Given the description of an element on the screen output the (x, y) to click on. 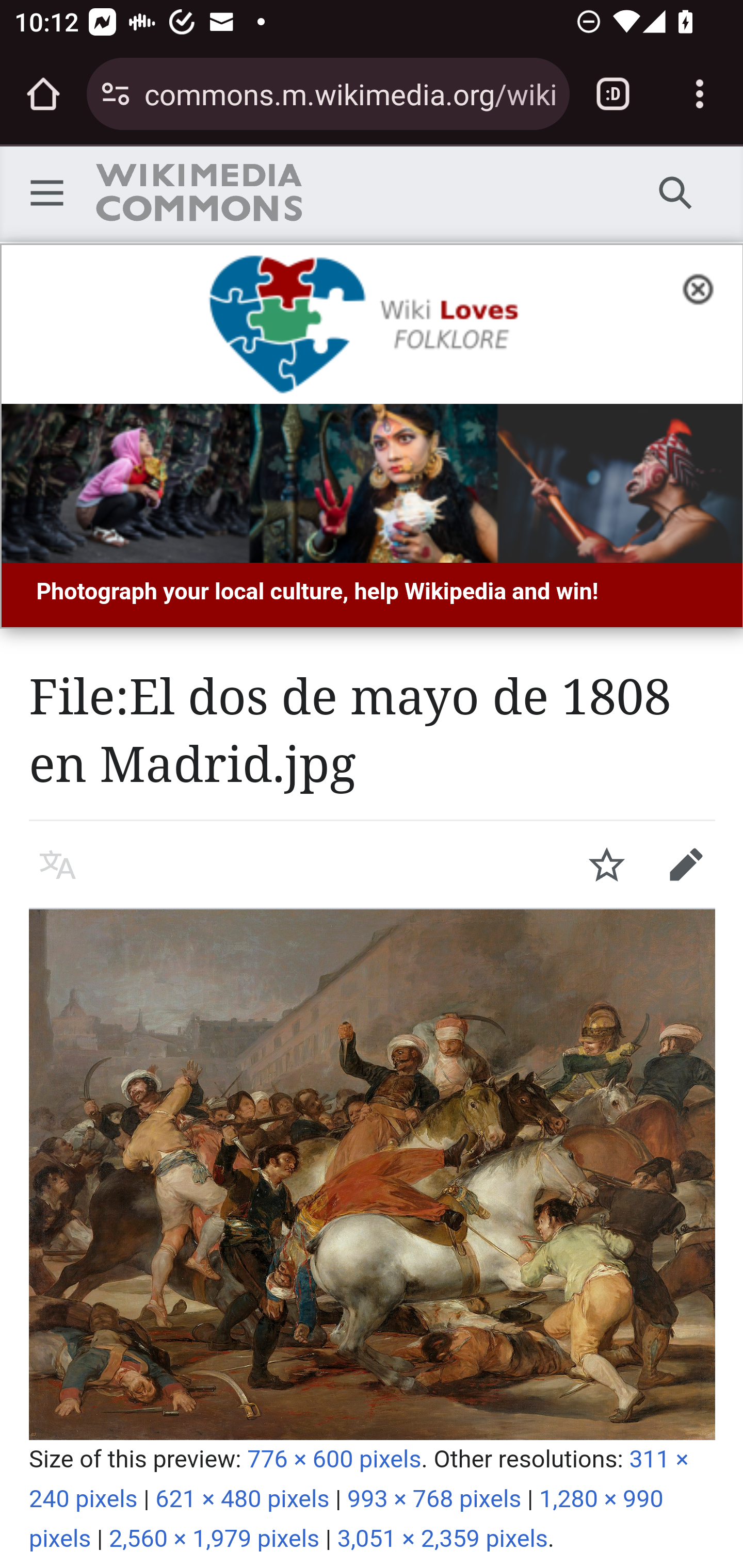
Open the home page (43, 93)
Connection is secure (115, 93)
Switch or close tabs (612, 93)
Customize and control Google Chrome (699, 93)
Search (676, 192)
Wikimedia Commons (198, 192)
Hide (703, 286)
Language (57, 864)
Watch (606, 864)
Edit (686, 864)
File:El dos de mayo de 1808 en Madrid.jpg (372, 1173)
311 × 240 pixels (358, 1479)
776 × 600 pixels (333, 1458)
1,280 × 990 pixels (346, 1518)
621 × 480 pixels (242, 1498)
993 × 768 pixels (433, 1498)
2,560 × 1,979 pixels (214, 1538)
3,051 × 2,359 pixels (442, 1538)
